Given the description of an element on the screen output the (x, y) to click on. 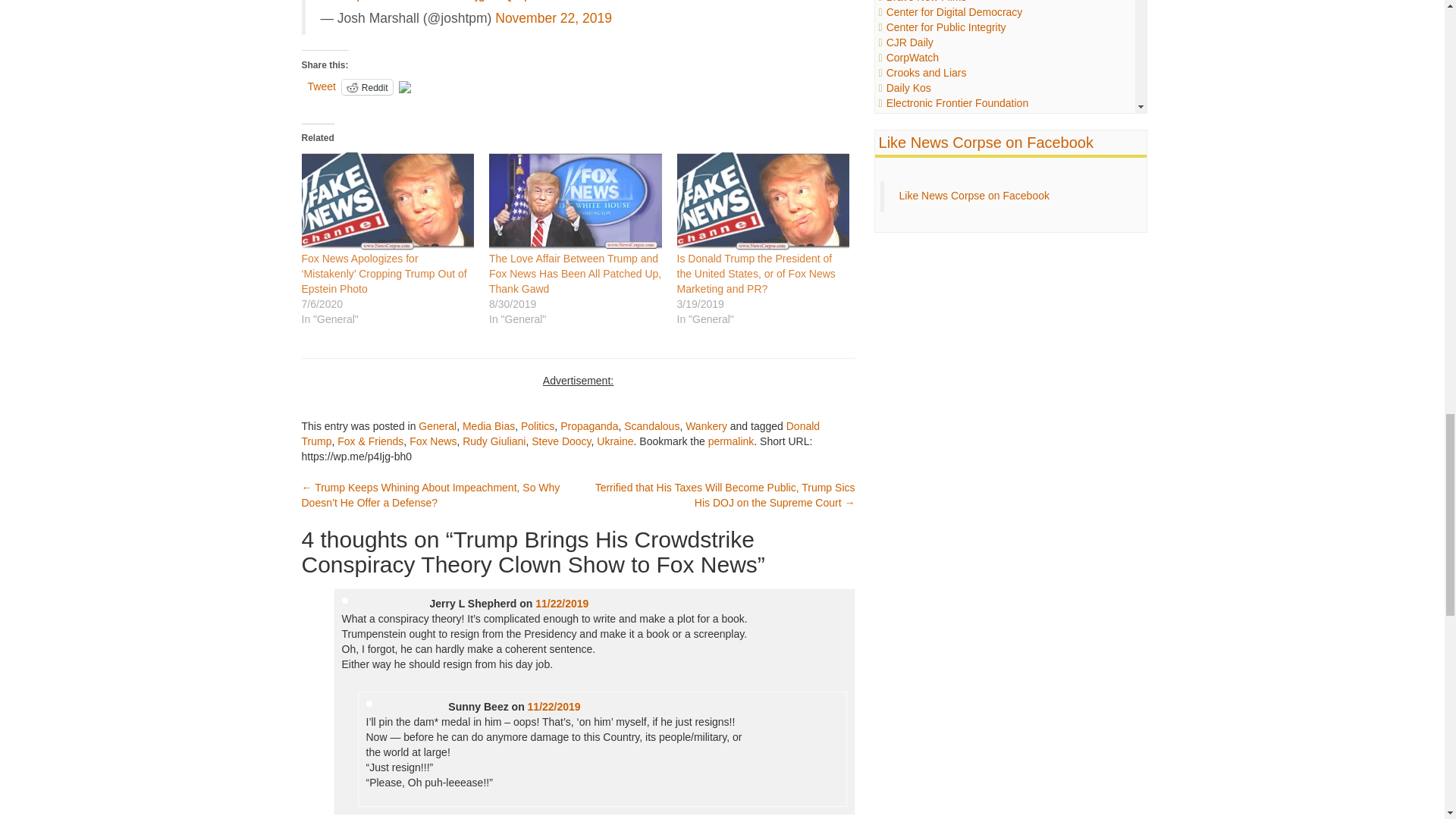
Reddit (367, 87)
November 22, 2019 (553, 17)
Tweet (321, 86)
Click to share on Reddit (367, 87)
